Given the description of an element on the screen output the (x, y) to click on. 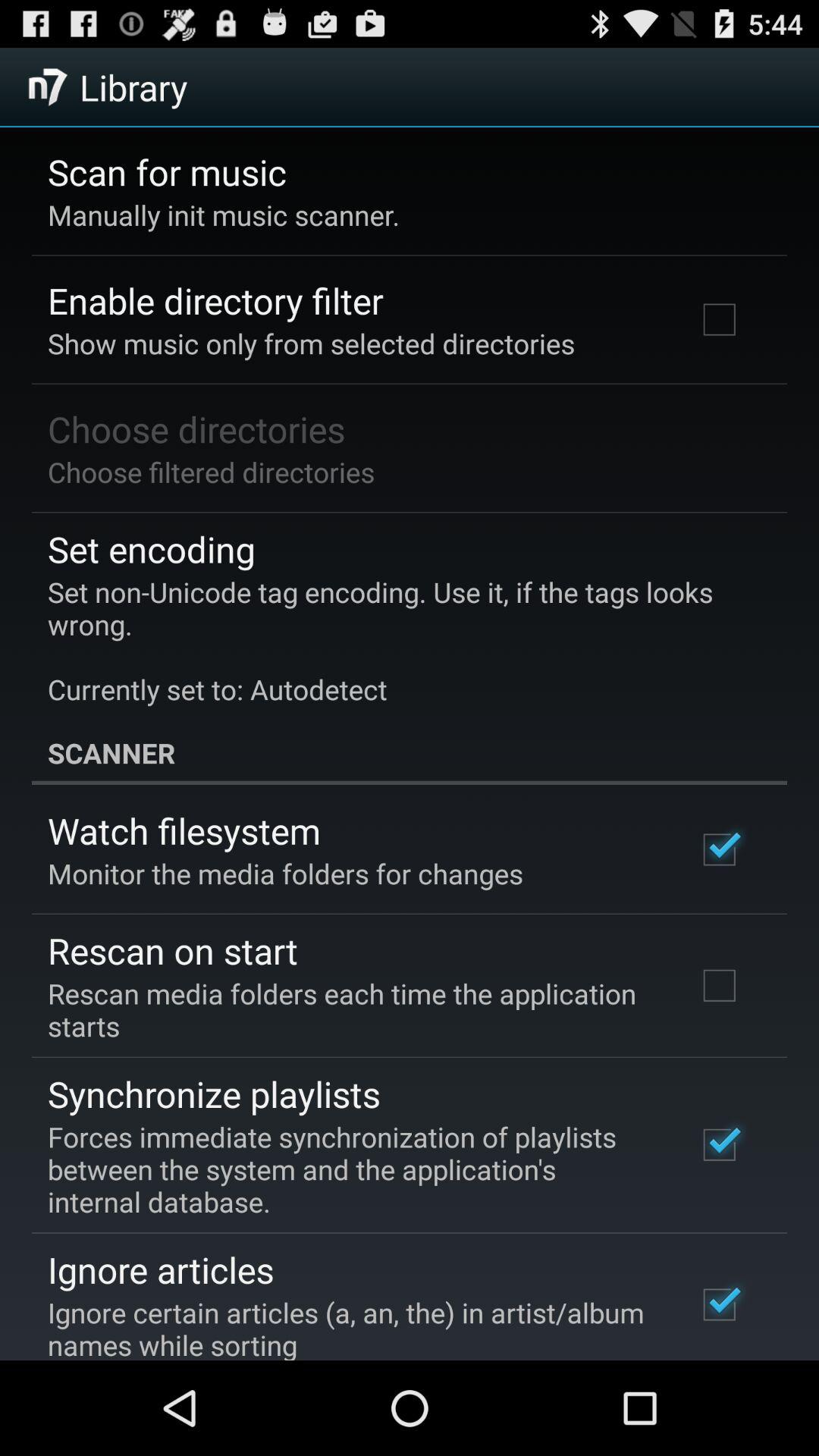
turn off the manually init music (223, 214)
